Given the description of an element on the screen output the (x, y) to click on. 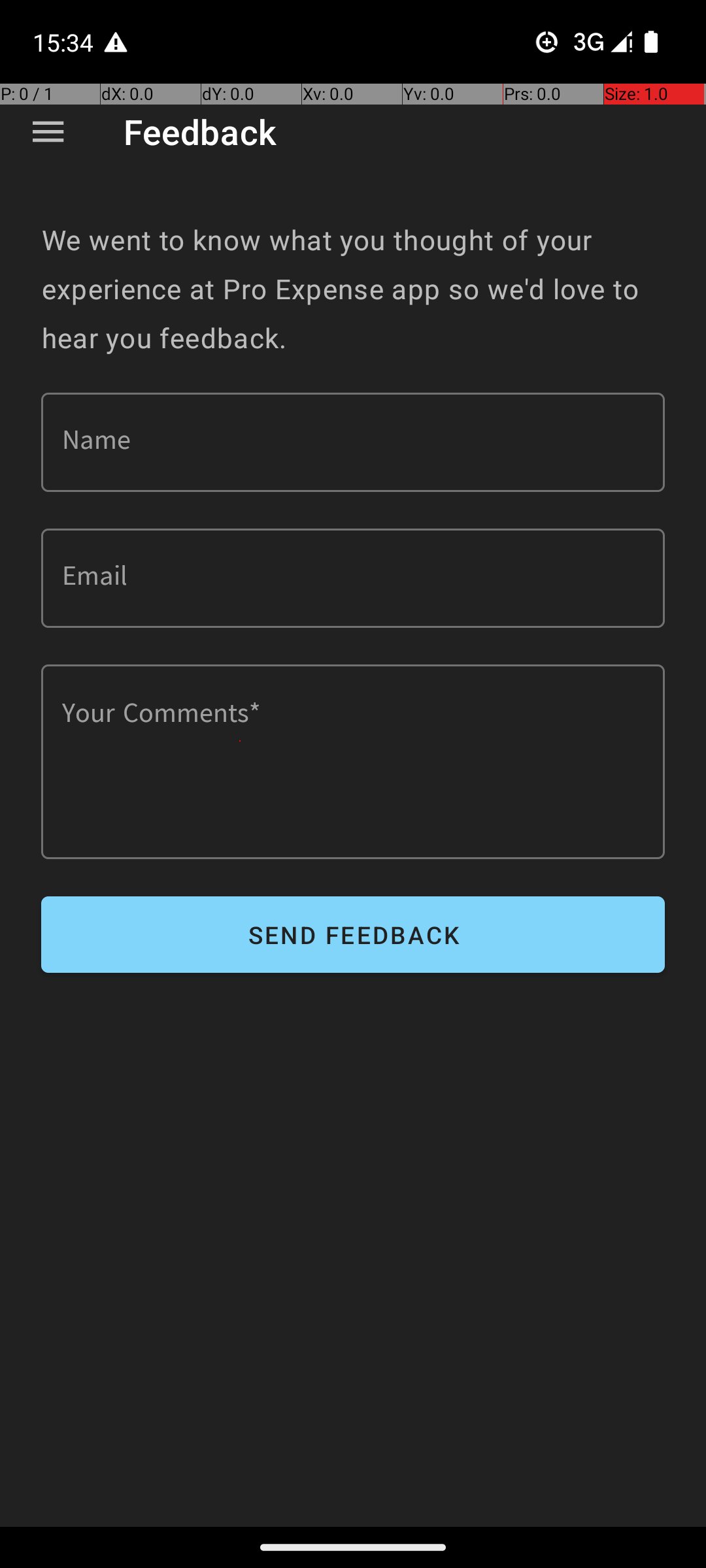
Feedback Element type: android.widget.TextView (200, 131)
We went to know what you thought of your experience at Pro Expense app so we'd love to hear you feedback. Element type: android.widget.TextView (352, 288)
Email Element type: android.widget.EditText (352, 577)
Your Comments* Element type: android.widget.EditText (352, 761)
SEND FEEDBACK Element type: android.widget.Button (352, 934)
